Given the description of an element on the screen output the (x, y) to click on. 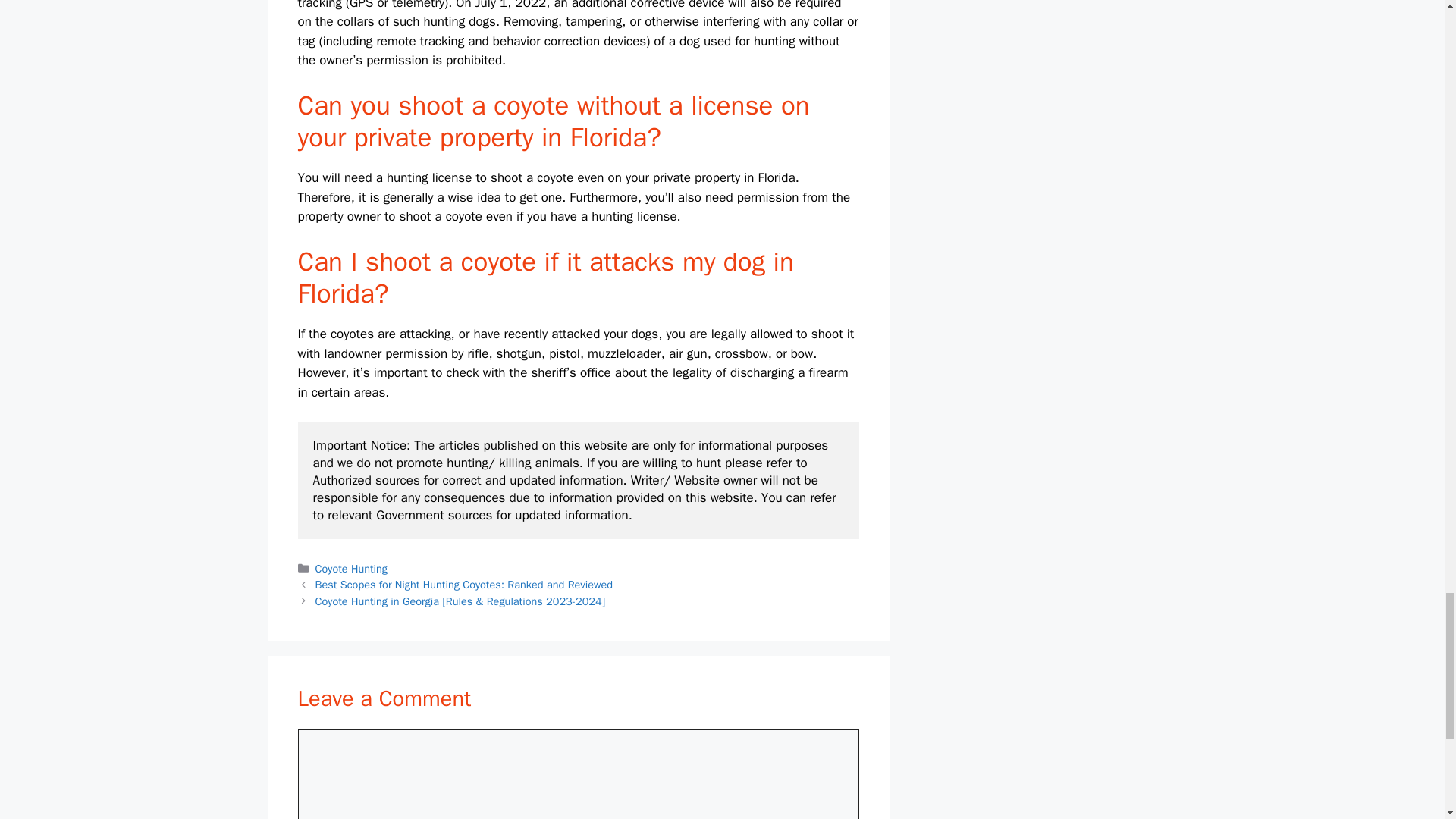
Previous (463, 584)
Next (460, 601)
Best Scopes for Night Hunting Coyotes: Ranked and Reviewed (463, 584)
Coyote Hunting (351, 568)
